Given the description of an element on the screen output the (x, y) to click on. 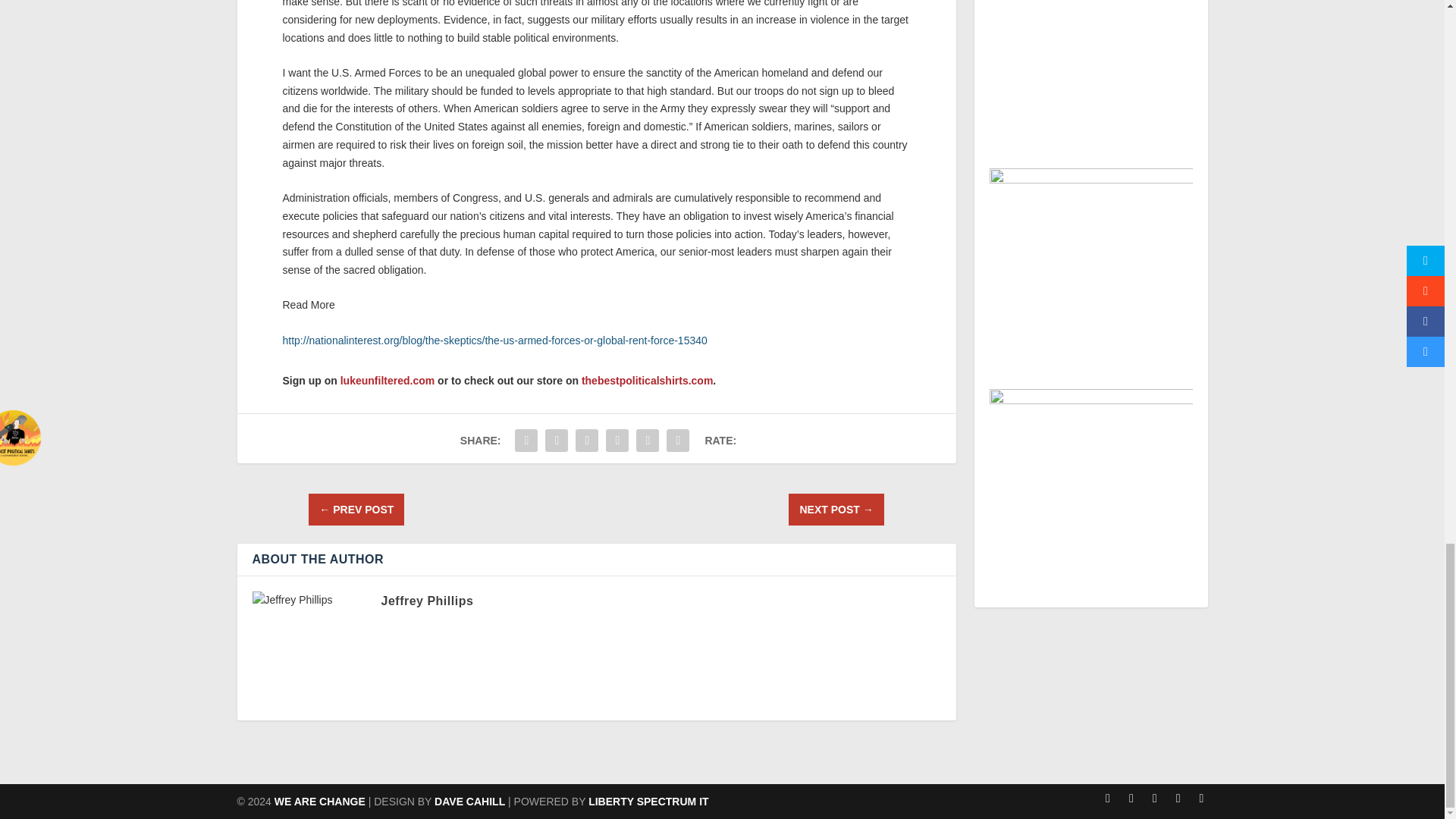
thebestpoliticalshirts.com (646, 380)
DivDav (469, 801)
lukeunfiltered.com (386, 380)
View all posts by Jeffrey Phillips (426, 600)
We Are Change (320, 801)
